Given the description of an element on the screen output the (x, y) to click on. 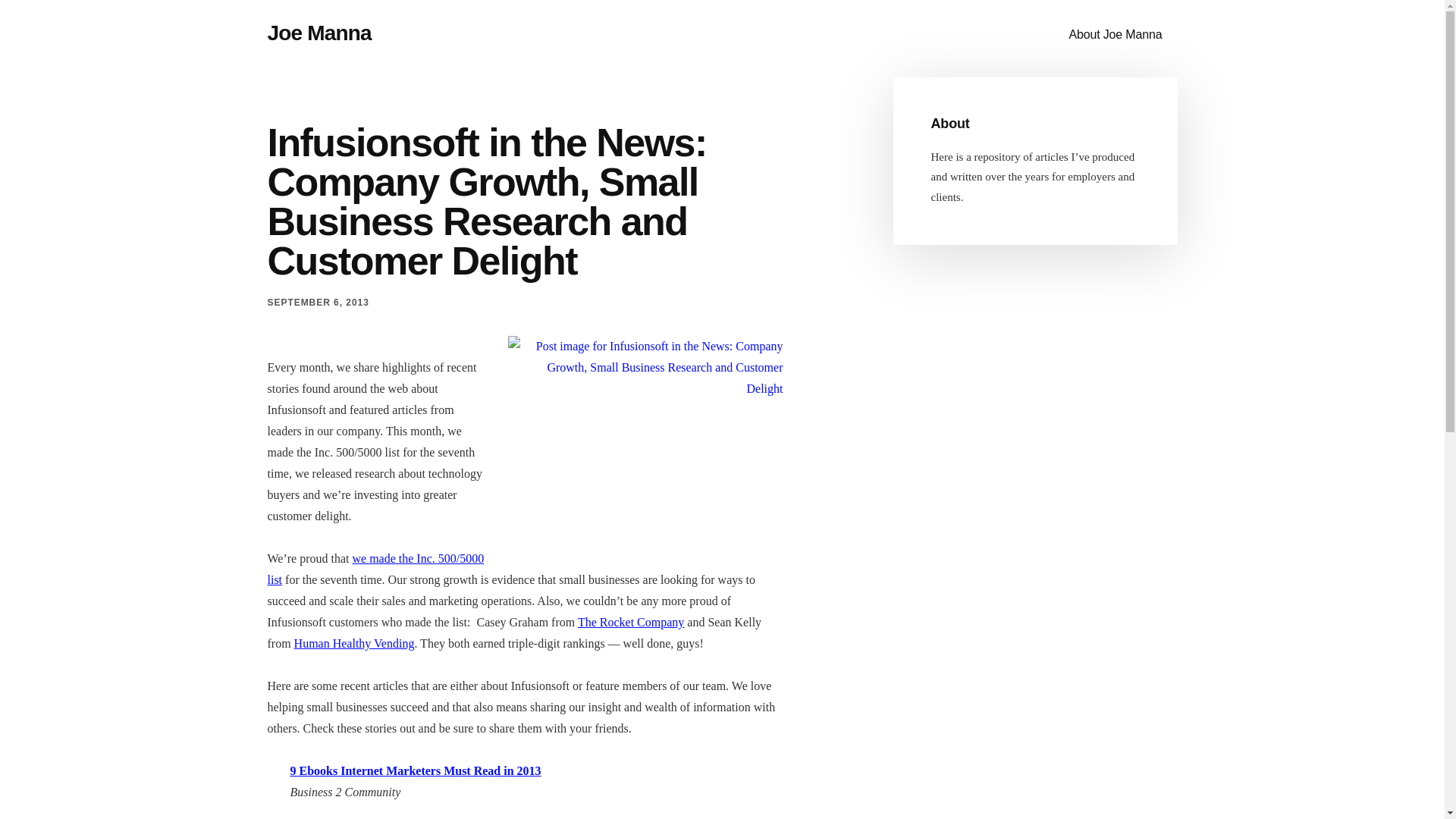
The Rocket Company (631, 621)
Human Healthy Vending (354, 643)
About Joe Manna (1114, 34)
Joe Manna (318, 33)
9 Ebooks Internet Marketers Must Read in 2013 (414, 770)
